Given the description of an element on the screen output the (x, y) to click on. 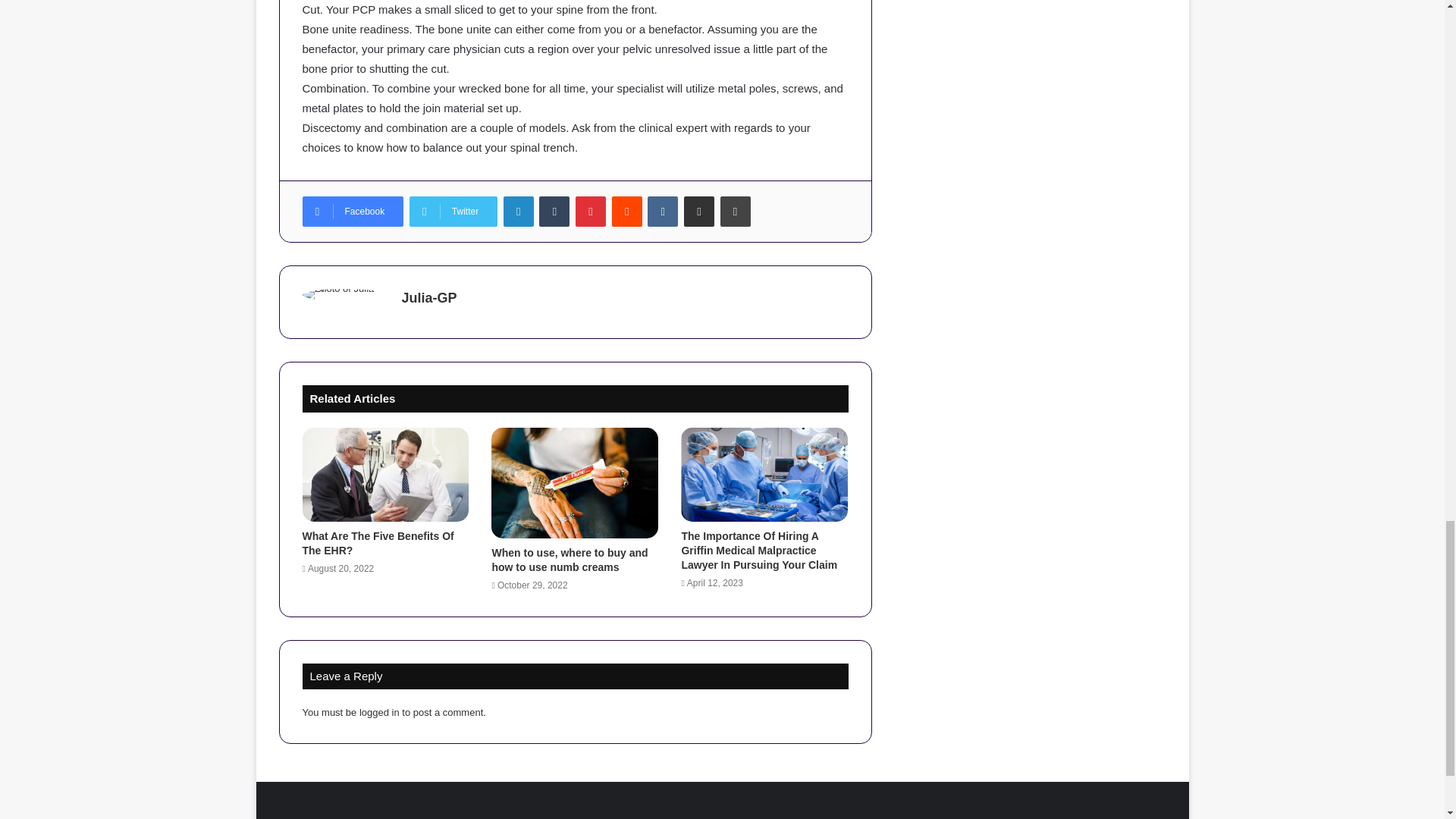
Pinterest (590, 211)
What Are The Five Benefits Of The EHR? (376, 542)
Tumblr (553, 211)
Share via Email (699, 211)
Twitter (453, 211)
VKontakte (662, 211)
Tumblr (553, 211)
Twitter (453, 211)
Pinterest (590, 211)
Reddit (626, 211)
Print (735, 211)
LinkedIn (518, 211)
Reddit (626, 211)
When to use, where to buy and how to use numb creams (569, 560)
